Given the description of an element on the screen output the (x, y) to click on. 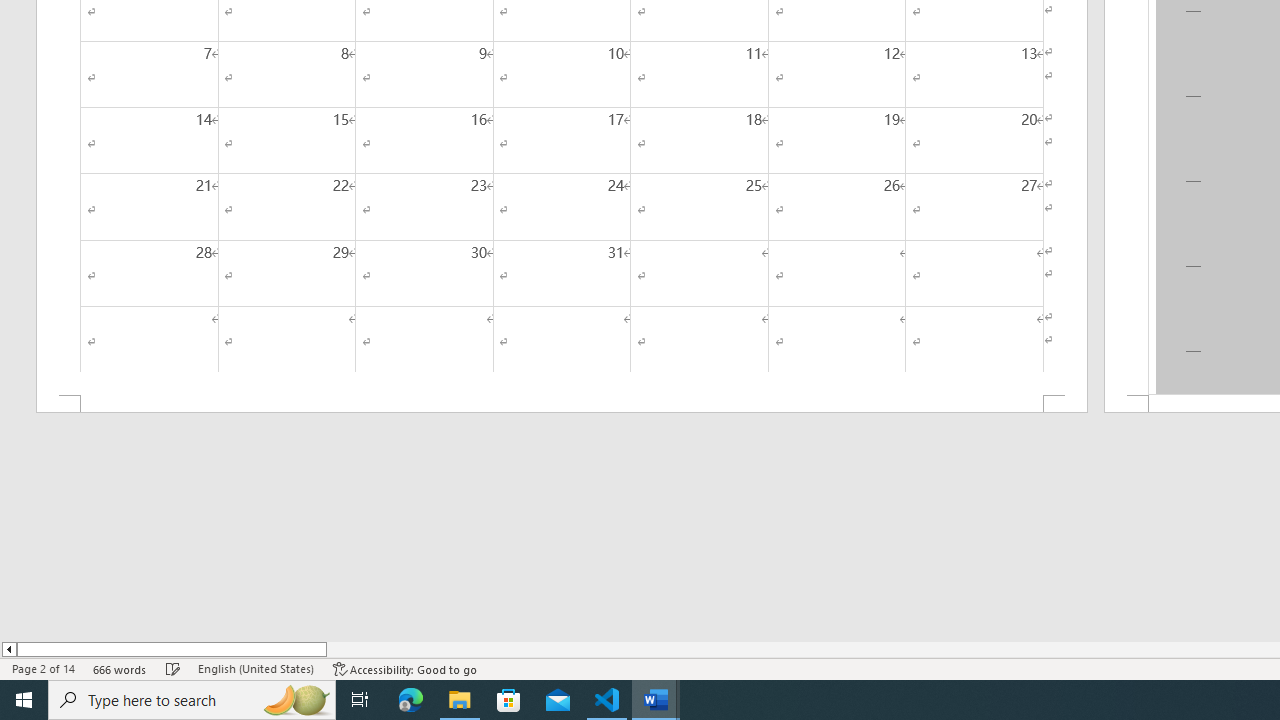
Spelling and Grammar Check Checking (173, 668)
Column left (8, 649)
Word Count 666 words (119, 668)
Accessibility Checker Accessibility: Good to go (405, 668)
Footer -Section 1- (561, 404)
Language English (United States) (255, 668)
Page Number Page 2 of 14 (43, 668)
